Given the description of an element on the screen output the (x, y) to click on. 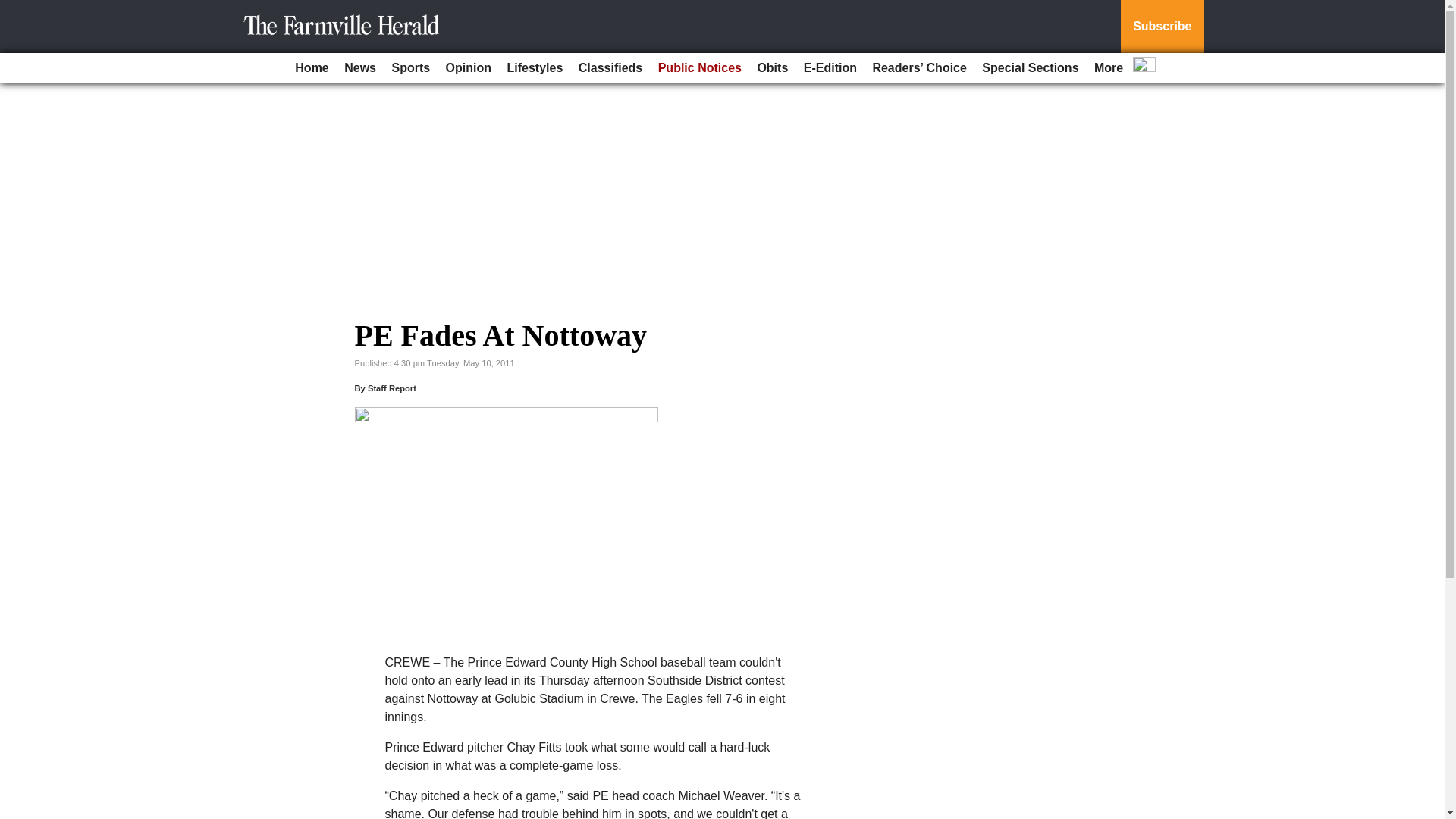
Lifestyles (534, 68)
Home (311, 68)
News (359, 68)
Public Notices (700, 68)
Sports (410, 68)
Go (13, 9)
E-Edition (830, 68)
Classifieds (609, 68)
Obits (772, 68)
More (1108, 68)
